Given the description of an element on the screen output the (x, y) to click on. 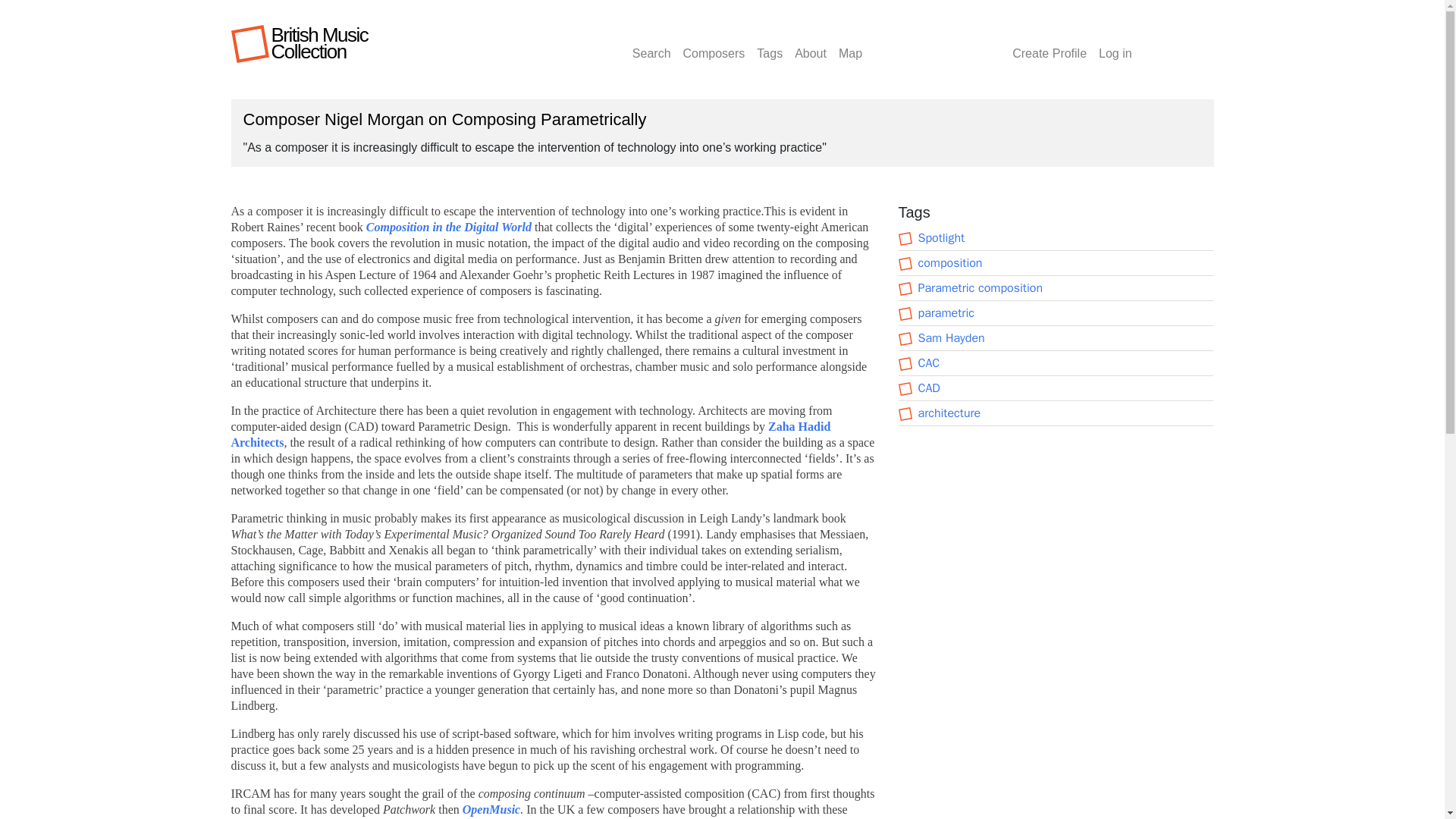
Composers (714, 44)
Map (849, 44)
About (810, 44)
British Music Collection (319, 43)
CAC (928, 363)
Parametric composition (979, 287)
CAD (928, 387)
Log in (1115, 44)
parametric (945, 313)
composition (949, 263)
Tags (770, 44)
Sam Hayden (950, 337)
Home (319, 43)
Spotlight (940, 237)
Create Profile (1049, 44)
